Given the description of an element on the screen output the (x, y) to click on. 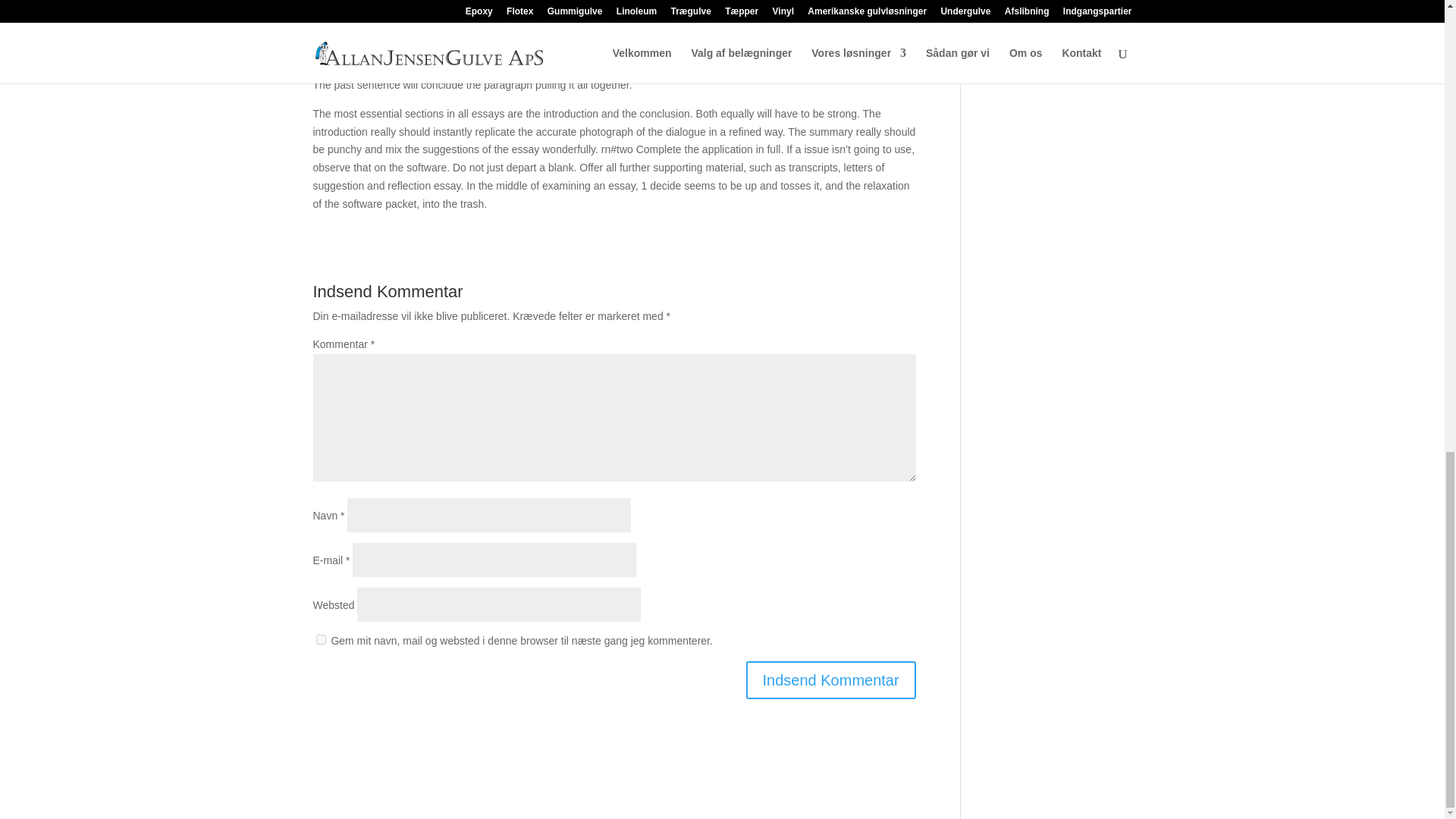
yes (319, 639)
Indsend Kommentar (830, 679)
Indsend Kommentar (830, 679)
